Given the description of an element on the screen output the (x, y) to click on. 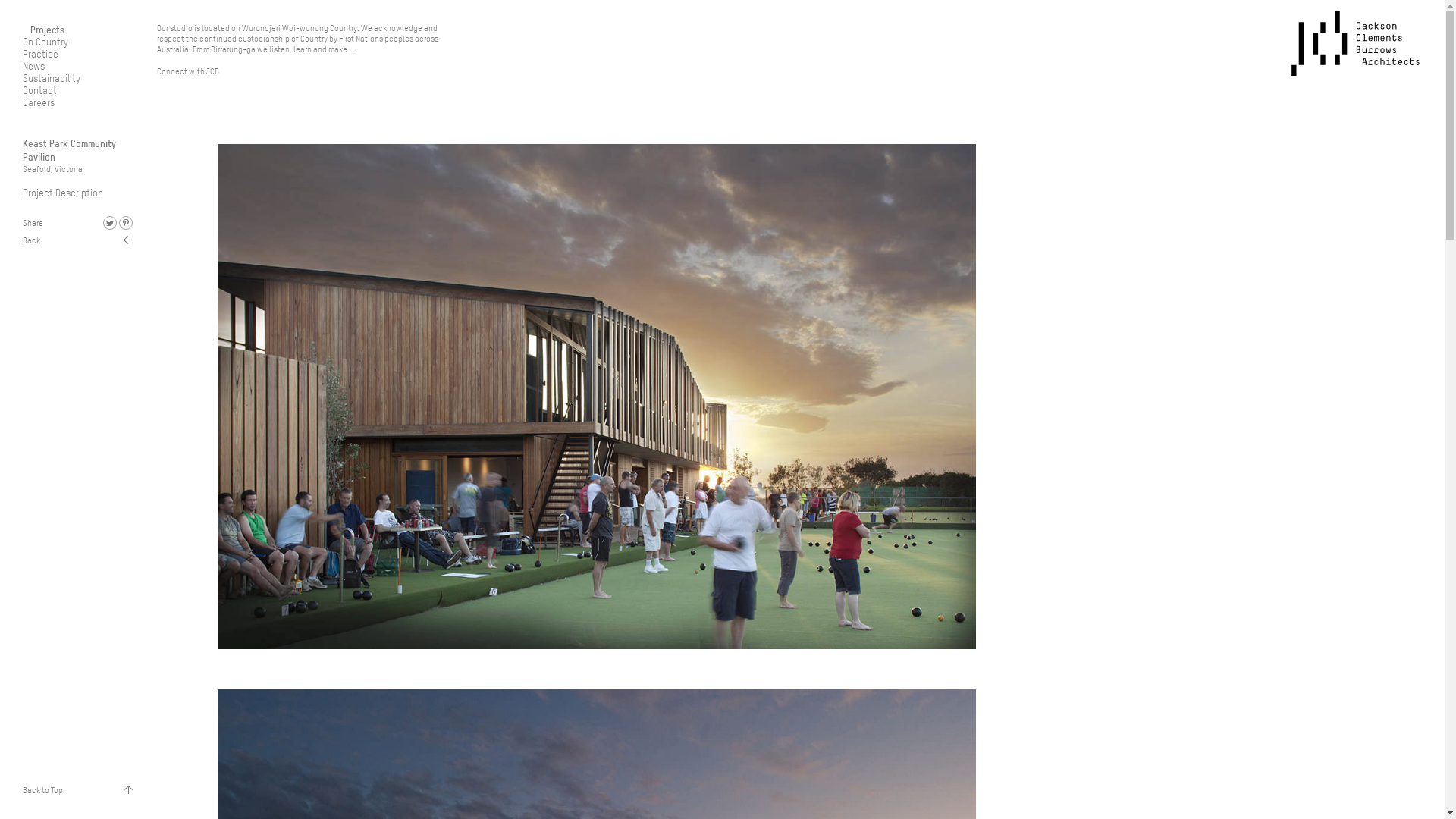
JCB Element type: text (1354, 43)
News Element type: text (33, 65)
Back Element type: text (77, 240)
Projects Element type: text (43, 28)
Careers Element type: text (38, 102)
On Country Element type: text (45, 41)
Contact Element type: text (39, 90)
Back to Top Element type: text (77, 790)
Practice Element type: text (40, 53)
Sustainability Element type: text (51, 78)
Connect with JCB Element type: text (187, 70)
